Given the description of an element on the screen output the (x, y) to click on. 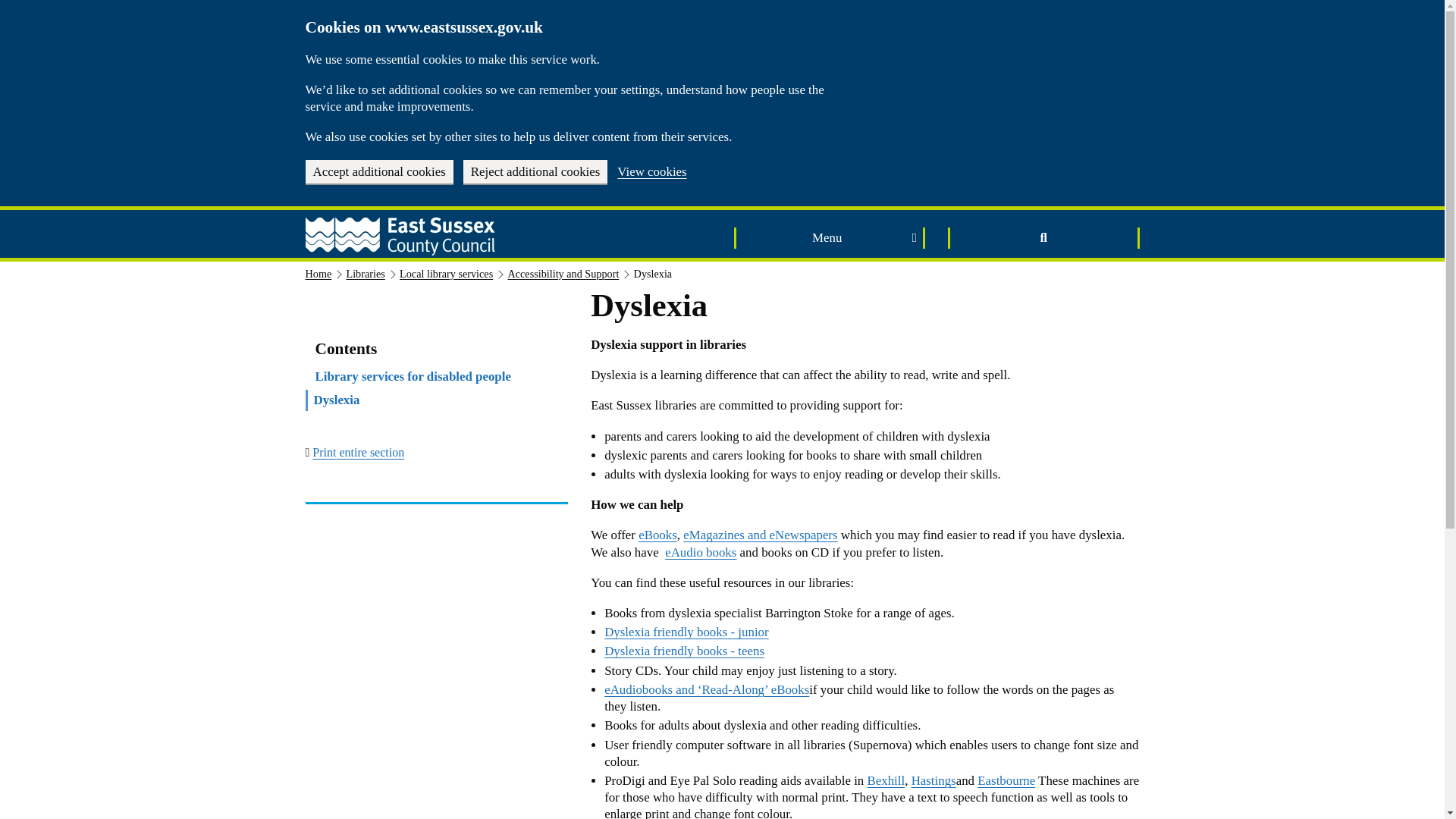
View cookies (651, 172)
Skip to main content (10, 6)
eBooks (658, 534)
Libraries (365, 273)
eMagazines and eNewspapers (759, 534)
Hastings (933, 780)
Bexhill (886, 780)
Local library services (445, 273)
Menu (829, 237)
Print entire section (358, 451)
Dyslexia friendly books - junior (686, 631)
Eastbourne (1005, 780)
Dyslexia friendly books - teens (684, 650)
Dyslexia (336, 400)
eAudio books (700, 552)
